Given the description of an element on the screen output the (x, y) to click on. 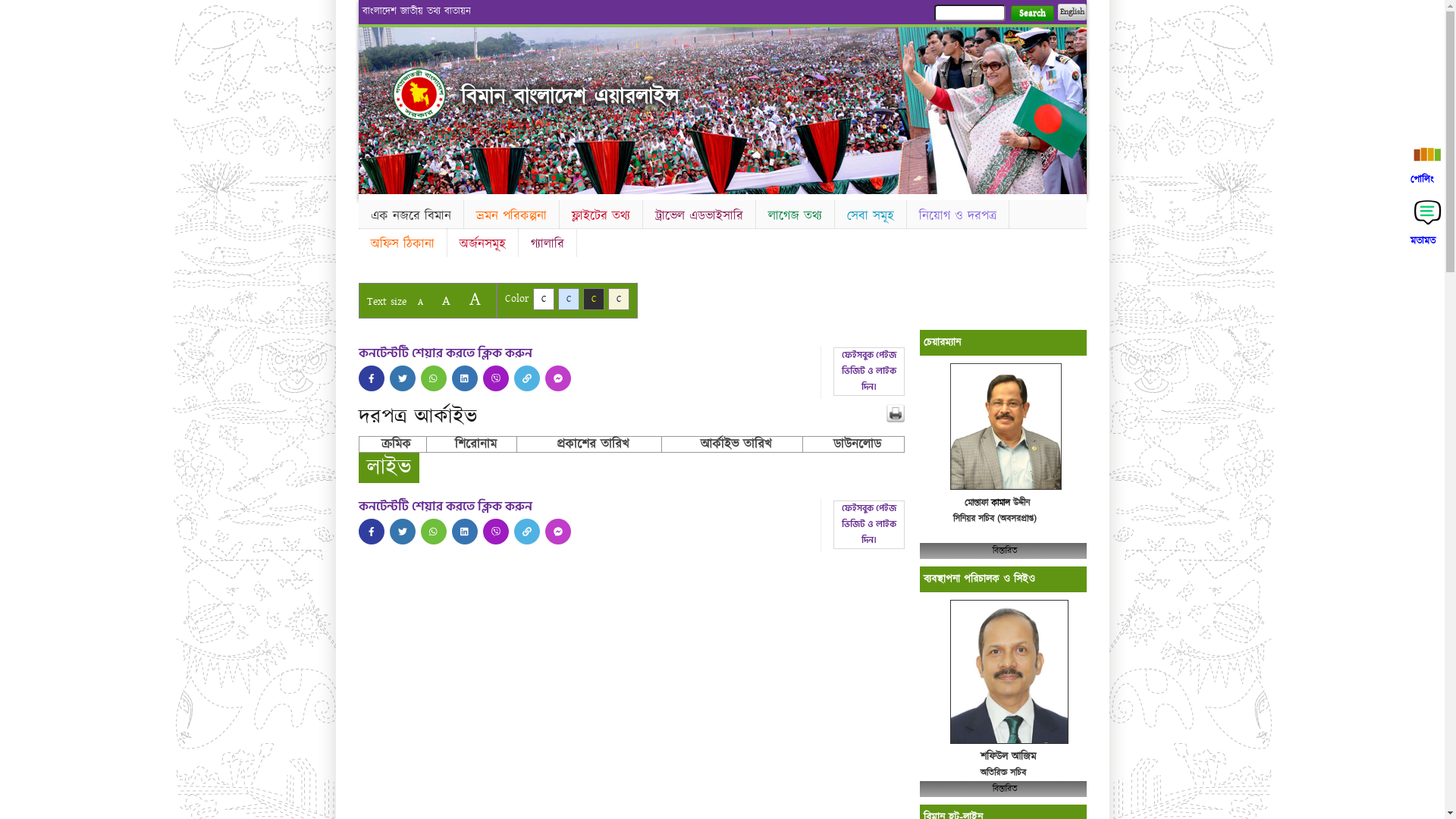
C Element type: text (618, 299)
A Element type: text (445, 300)
Home Element type: hover (418, 93)
C Element type: text (542, 299)
English Element type: text (1071, 11)
Search Element type: text (1031, 13)
A Element type: text (419, 301)
A Element type: text (474, 298)
C Element type: text (592, 299)
C Element type: text (568, 299)
